Given the description of an element on the screen output the (x, y) to click on. 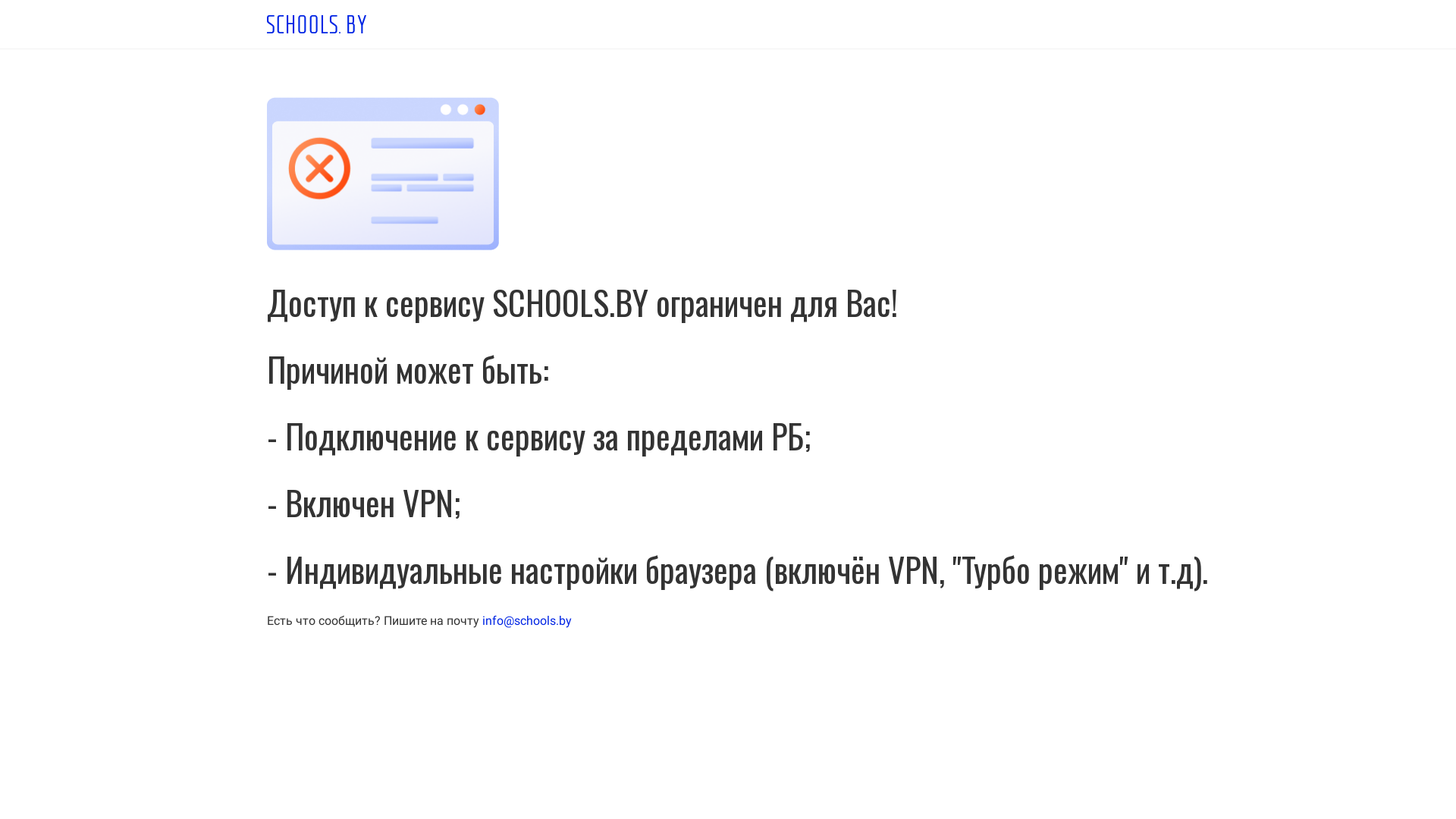
info@schools.by Element type: text (526, 620)
